Given the description of an element on the screen output the (x, y) to click on. 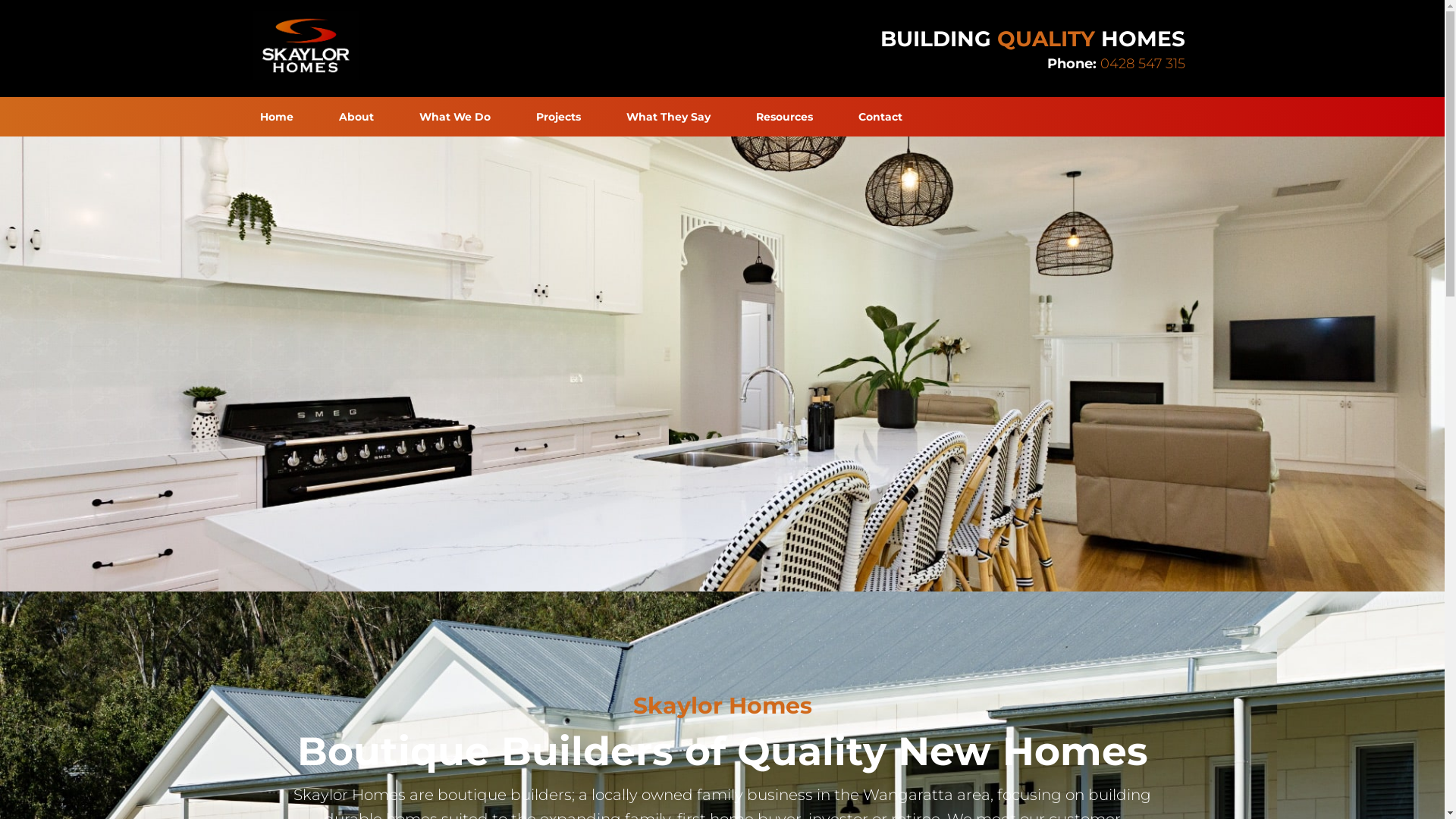
What We Do Element type: text (453, 116)
Projects Element type: text (557, 116)
Home Element type: text (275, 116)
Skaylor Homes Boutique Now Home Builders North East Victoria Element type: hover (304, 45)
About Element type: text (355, 116)
0428 547 315 Element type: text (1141, 63)
What They Say Element type: text (668, 116)
Resources Element type: text (783, 116)
Contact Element type: text (880, 116)
